Given the description of an element on the screen output the (x, y) to click on. 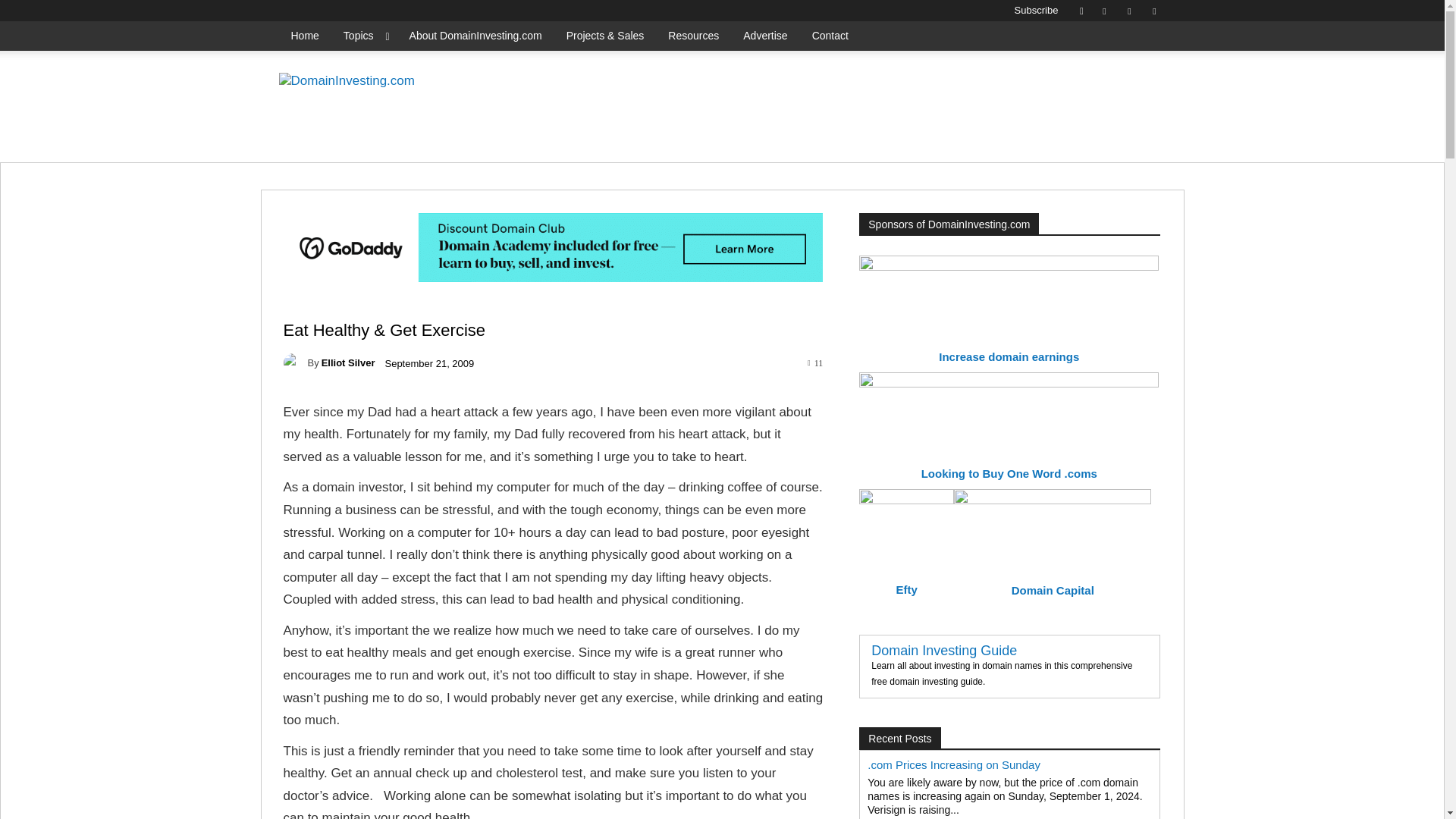
.com Prices Increasing on Sunday (954, 764)
gd-ending-soon (887, 110)
Elliot Silver (295, 362)
Facebook (1104, 10)
Twitter (1154, 10)
RSS (1129, 10)
